Given the description of an element on the screen output the (x, y) to click on. 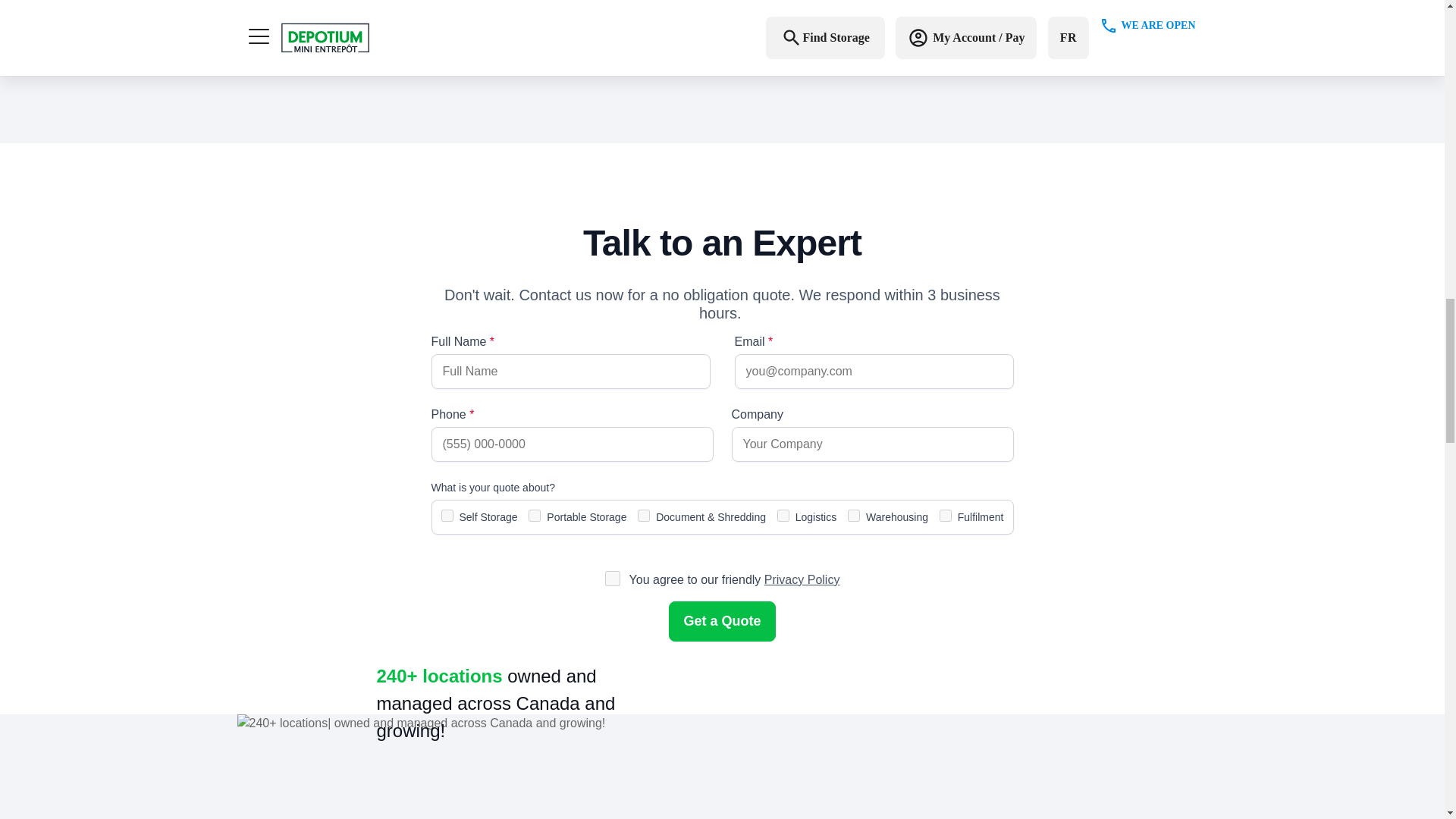
Portable Storage (534, 515)
Self Storage (446, 515)
on (612, 578)
Warehousing (853, 515)
Logistics (783, 515)
Get a Quote (721, 621)
Privacy Policy (802, 579)
Fulfilment (945, 515)
